Given the description of an element on the screen output the (x, y) to click on. 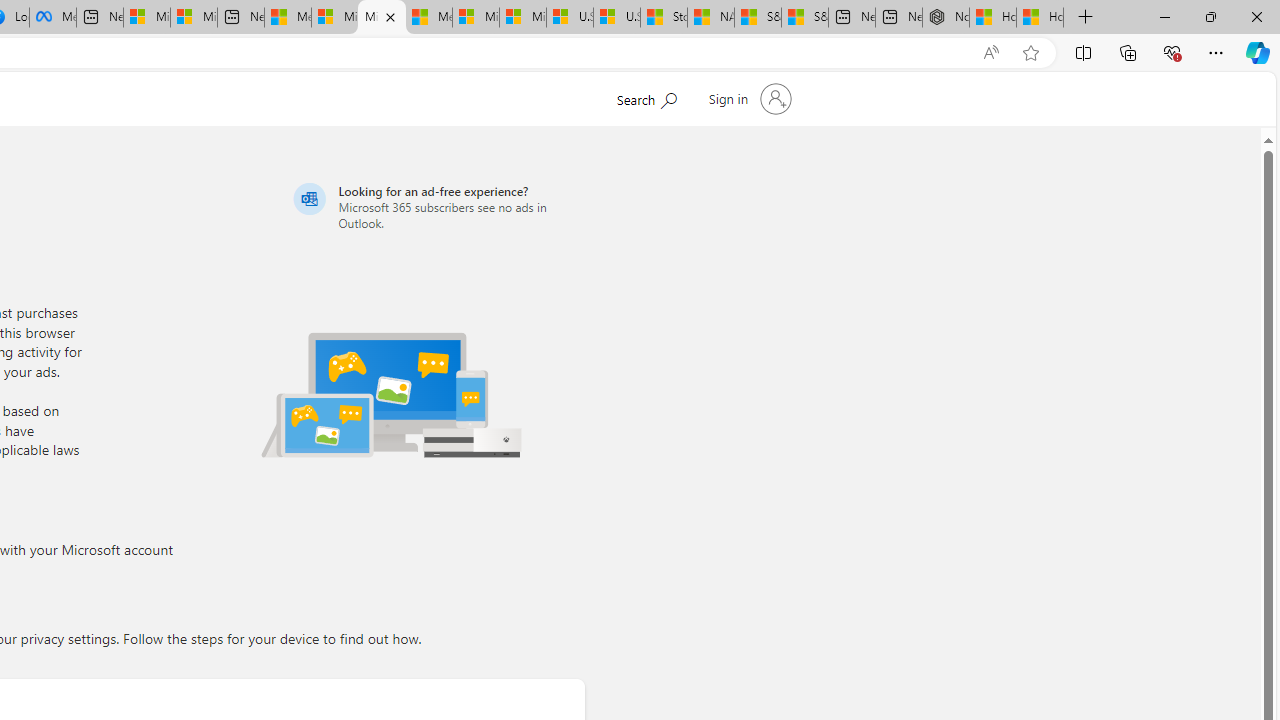
Looking for an ad-free experience? (436, 206)
S&P 500, Nasdaq end lower, weighed by Nvidia dip | Watch (805, 17)
How to Use a Monitor With Your Closed Laptop (1040, 17)
Sign in to your account (748, 98)
Search Microsoft.com (646, 97)
Microsoft account | Privacy (381, 17)
